Given the description of an element on the screen output the (x, y) to click on. 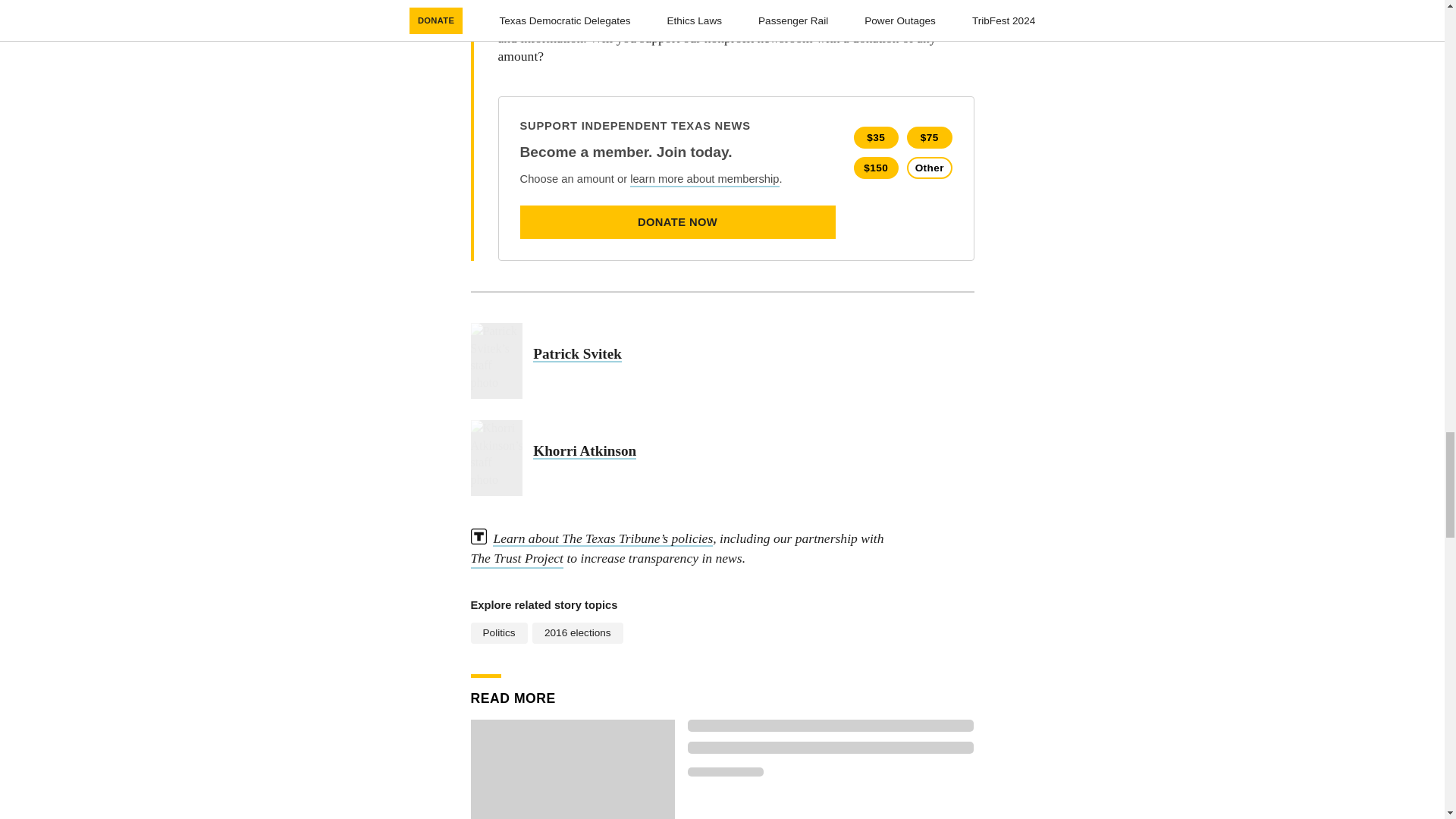
Loading indicator (830, 747)
Loading indicator (724, 771)
Loading indicator (830, 725)
